Given the description of an element on the screen output the (x, y) to click on. 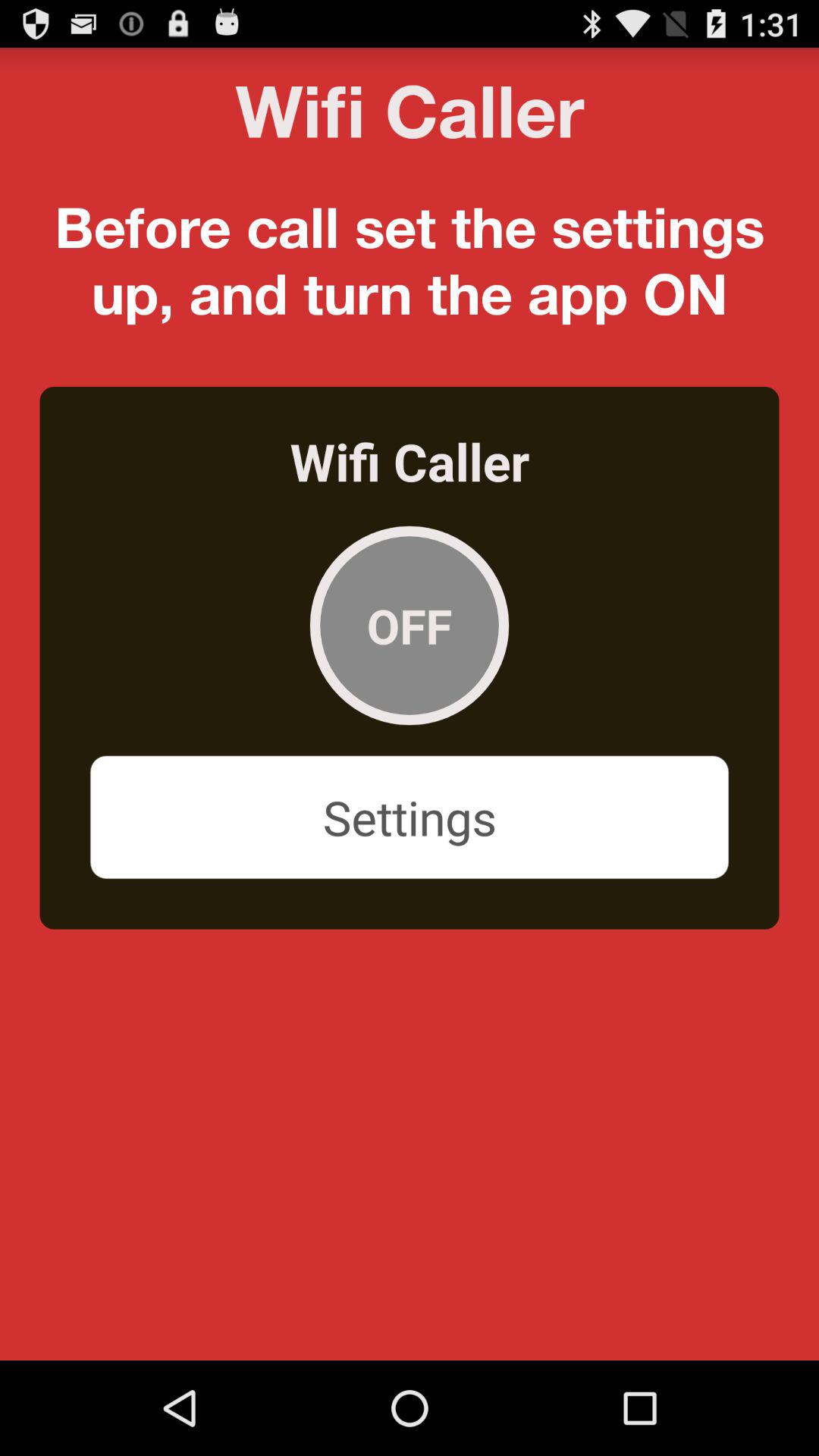
swipe to the off icon (409, 625)
